Given the description of an element on the screen output the (x, y) to click on. 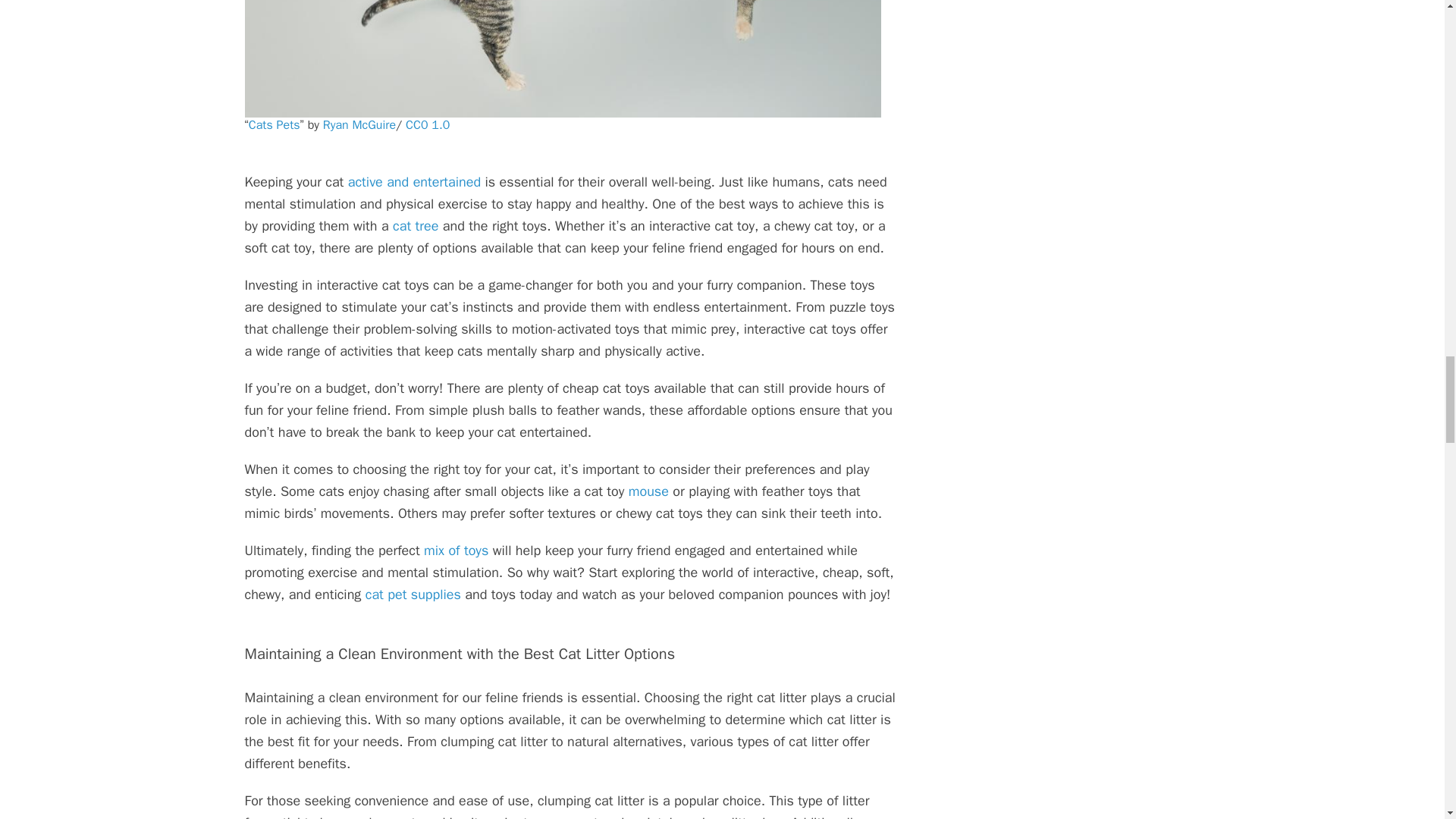
mouse (650, 491)
CC0 1.0 (427, 124)
Cats Pets (273, 124)
mix of toys (455, 550)
Ryan McGuire (359, 124)
cat pet supplies (413, 594)
active and entertained (413, 181)
cat tree (417, 225)
